Given the description of an element on the screen output the (x, y) to click on. 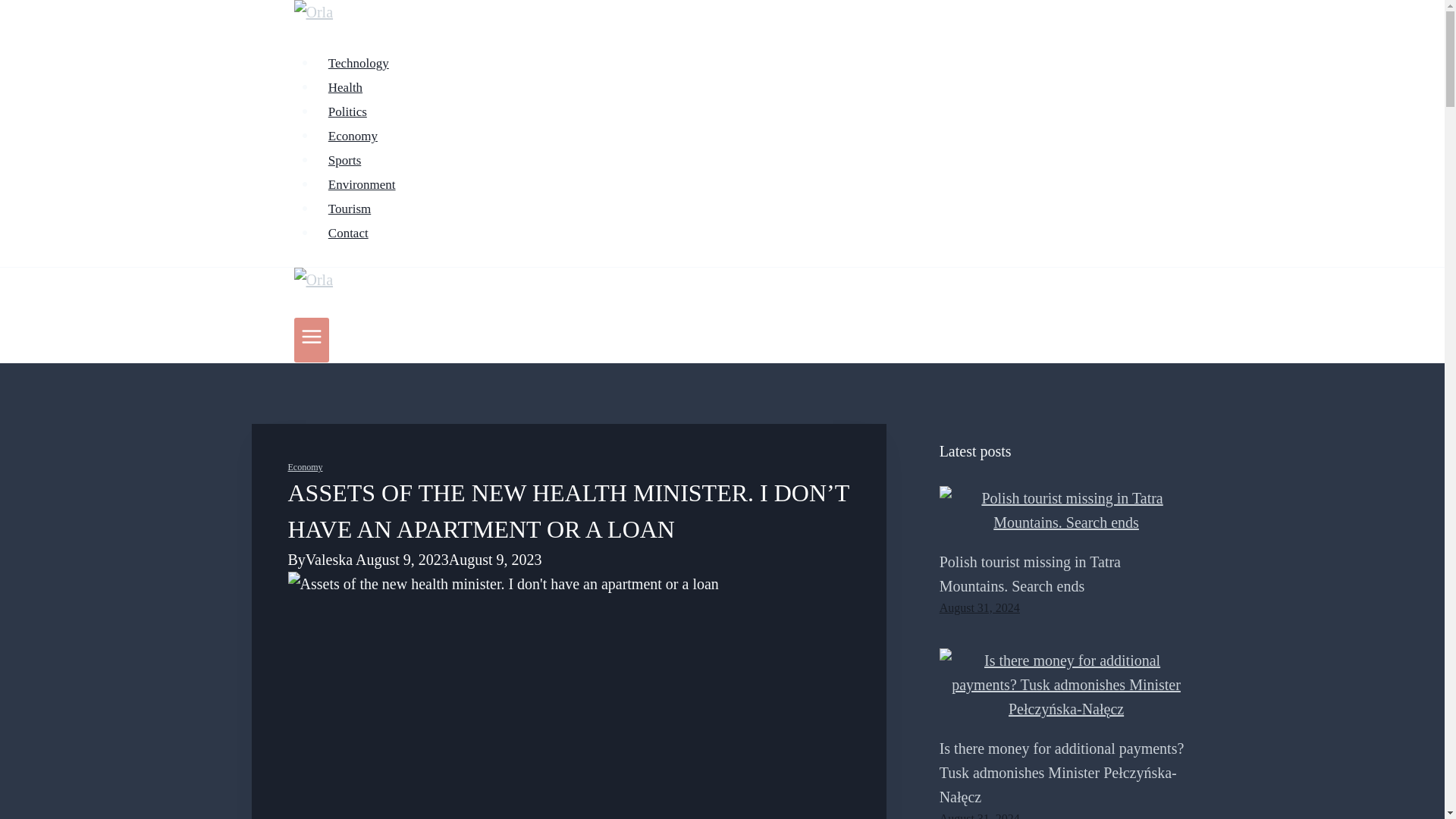
Contact (348, 233)
Polish tourist missing in Tatra Mountains. Search ends (1030, 573)
10:26 pm (979, 815)
Tourism (349, 208)
Sports (344, 160)
Technology (359, 62)
August 31, 2024 (979, 815)
Environment (362, 184)
Health (345, 87)
August 31, 2024 (979, 607)
